Given the description of an element on the screen output the (x, y) to click on. 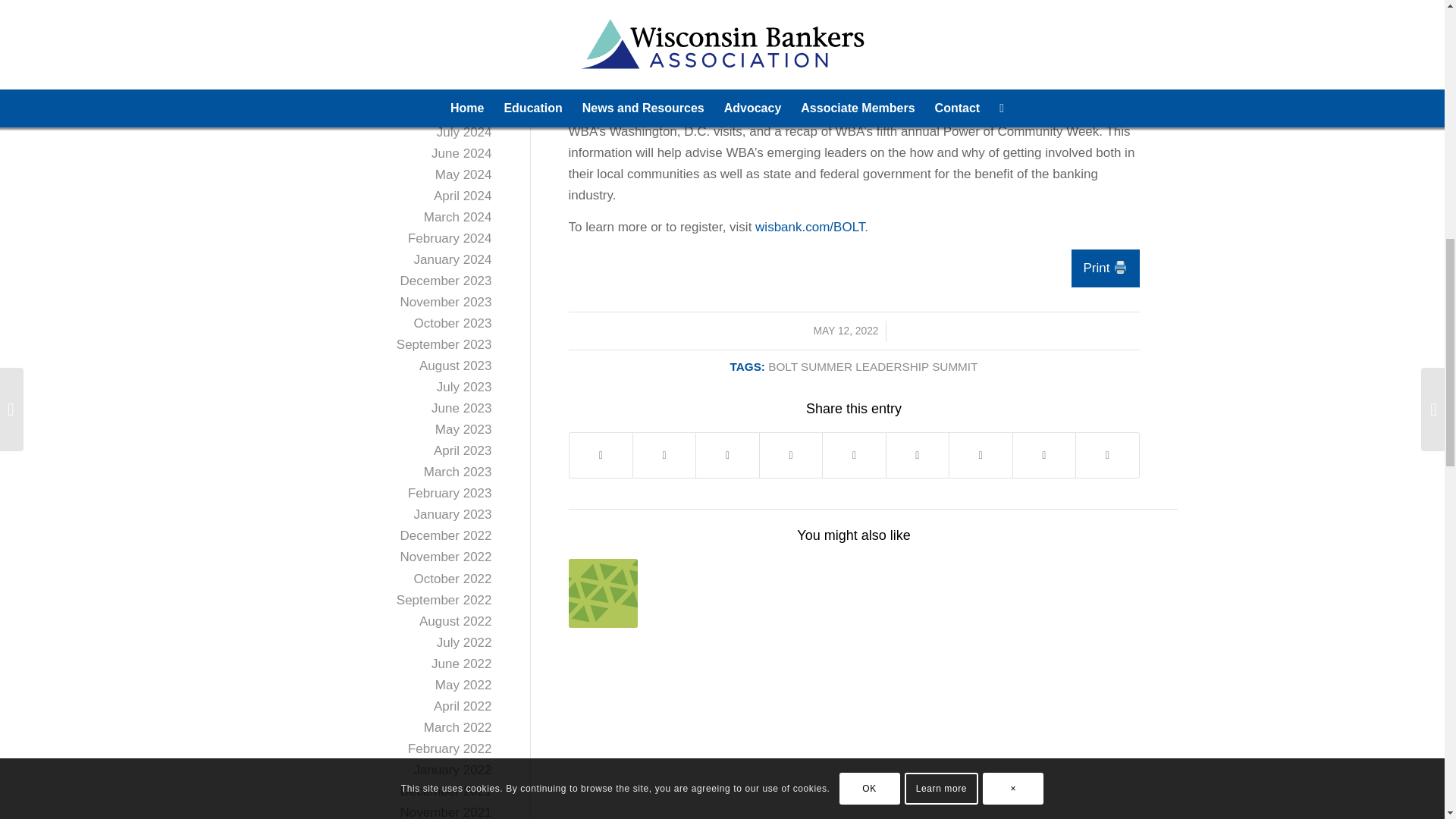
BOLT SUMMER LEADERSHIP SUMMIT (872, 366)
Print (1104, 268)
